Given the description of an element on the screen output the (x, y) to click on. 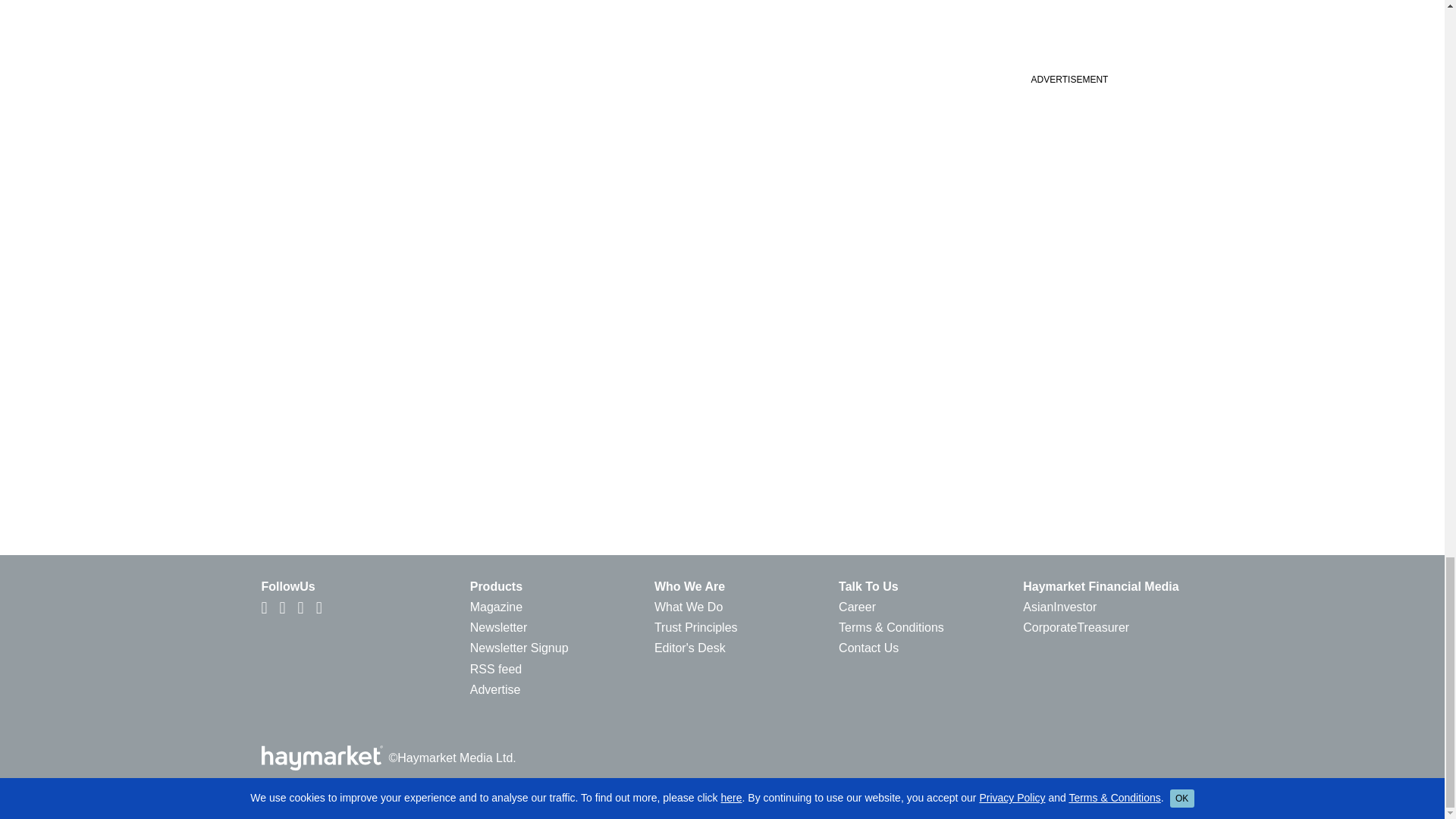
3rd party ad content (1068, 32)
